Given the description of an element on the screen output the (x, y) to click on. 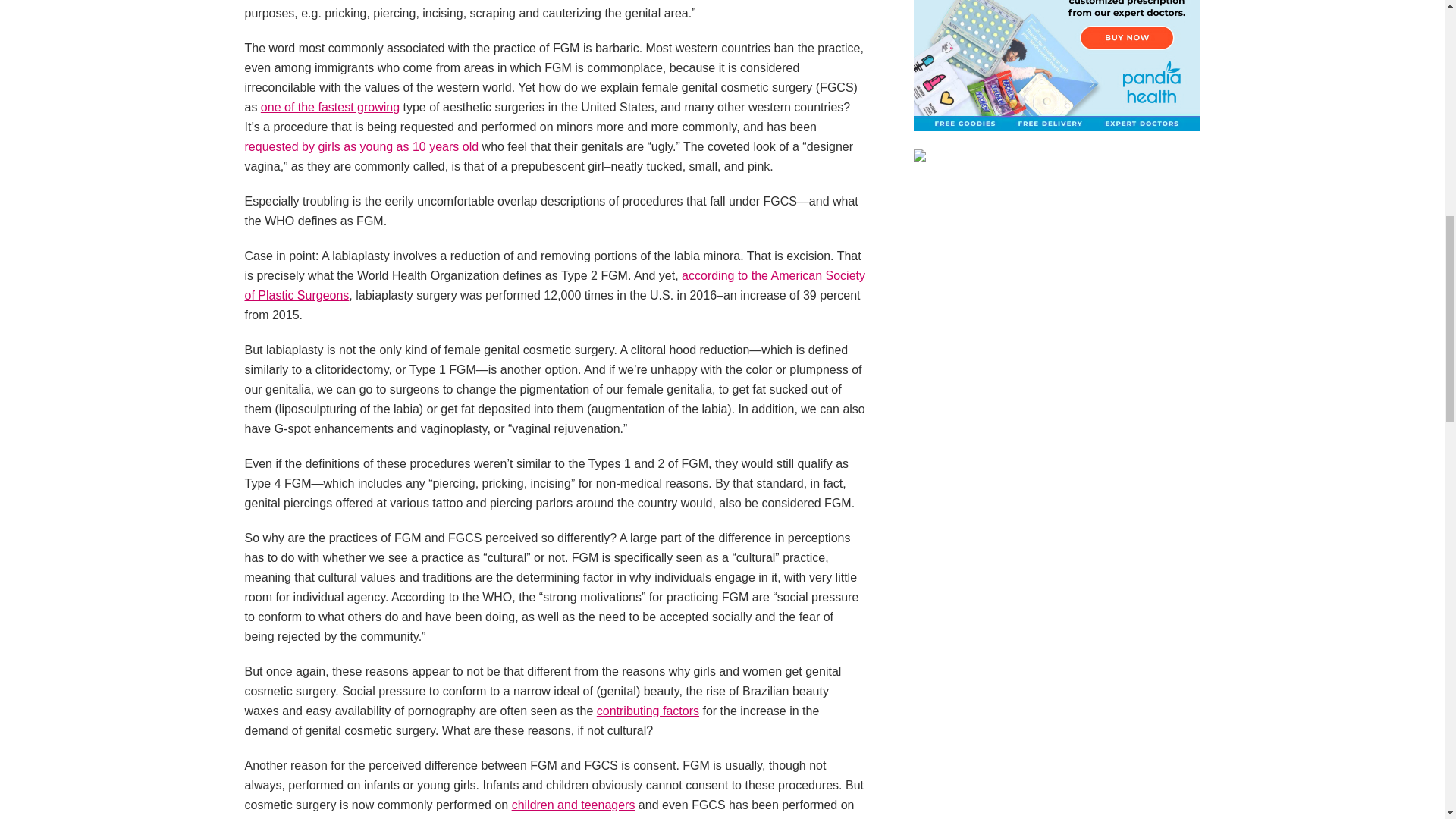
contributing factors (647, 710)
one of the fastest growing (329, 106)
according to the American Society of Plastic Surgeons (554, 285)
children and teenagers (573, 804)
requested by girls as young as 10 years old (361, 146)
